Given the description of an element on the screen output the (x, y) to click on. 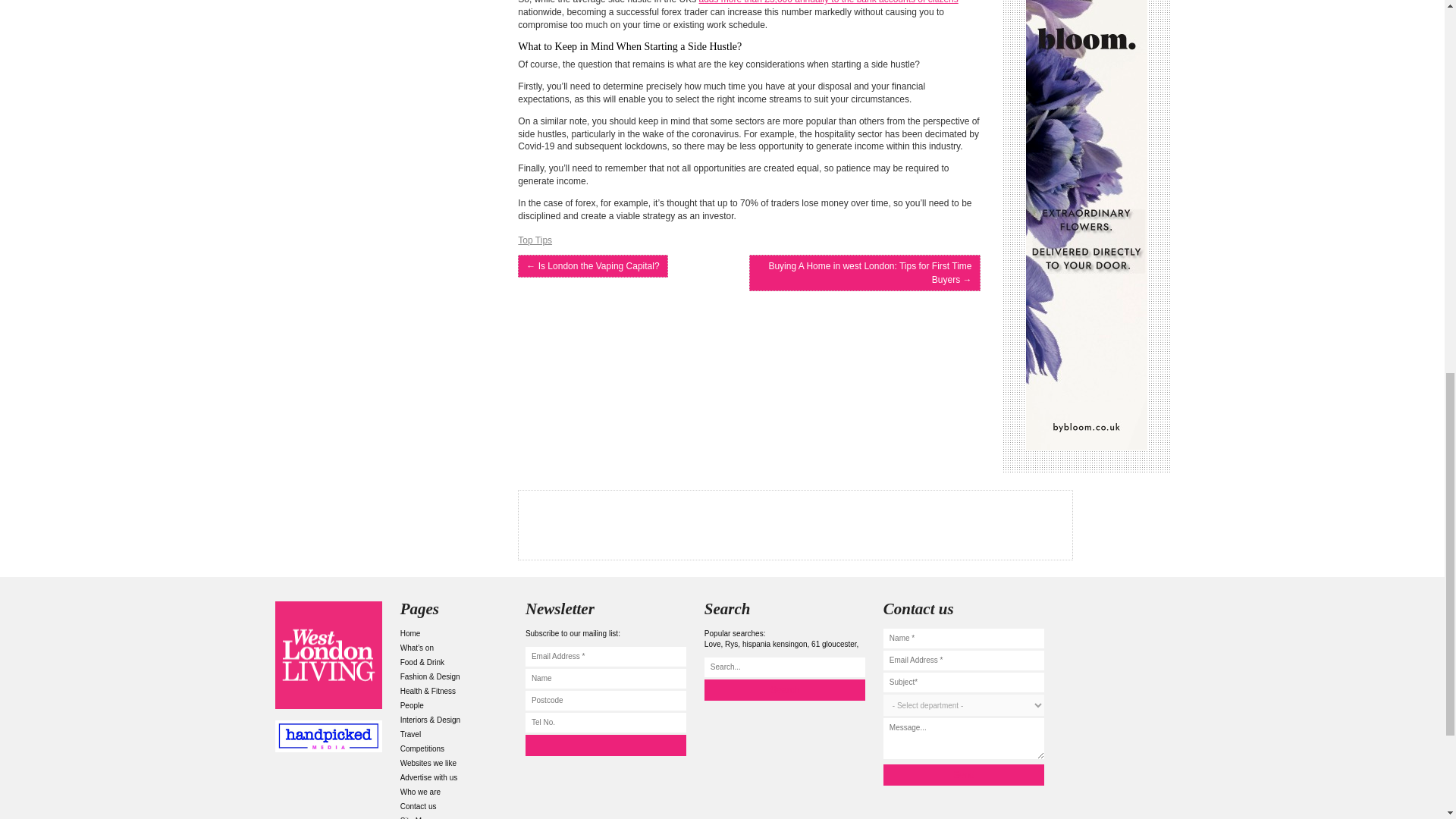
Tel No. (605, 722)
Send (963, 774)
Search (784, 690)
Subscribe (605, 744)
Name (605, 678)
Postcode (605, 700)
